Given the description of an element on the screen output the (x, y) to click on. 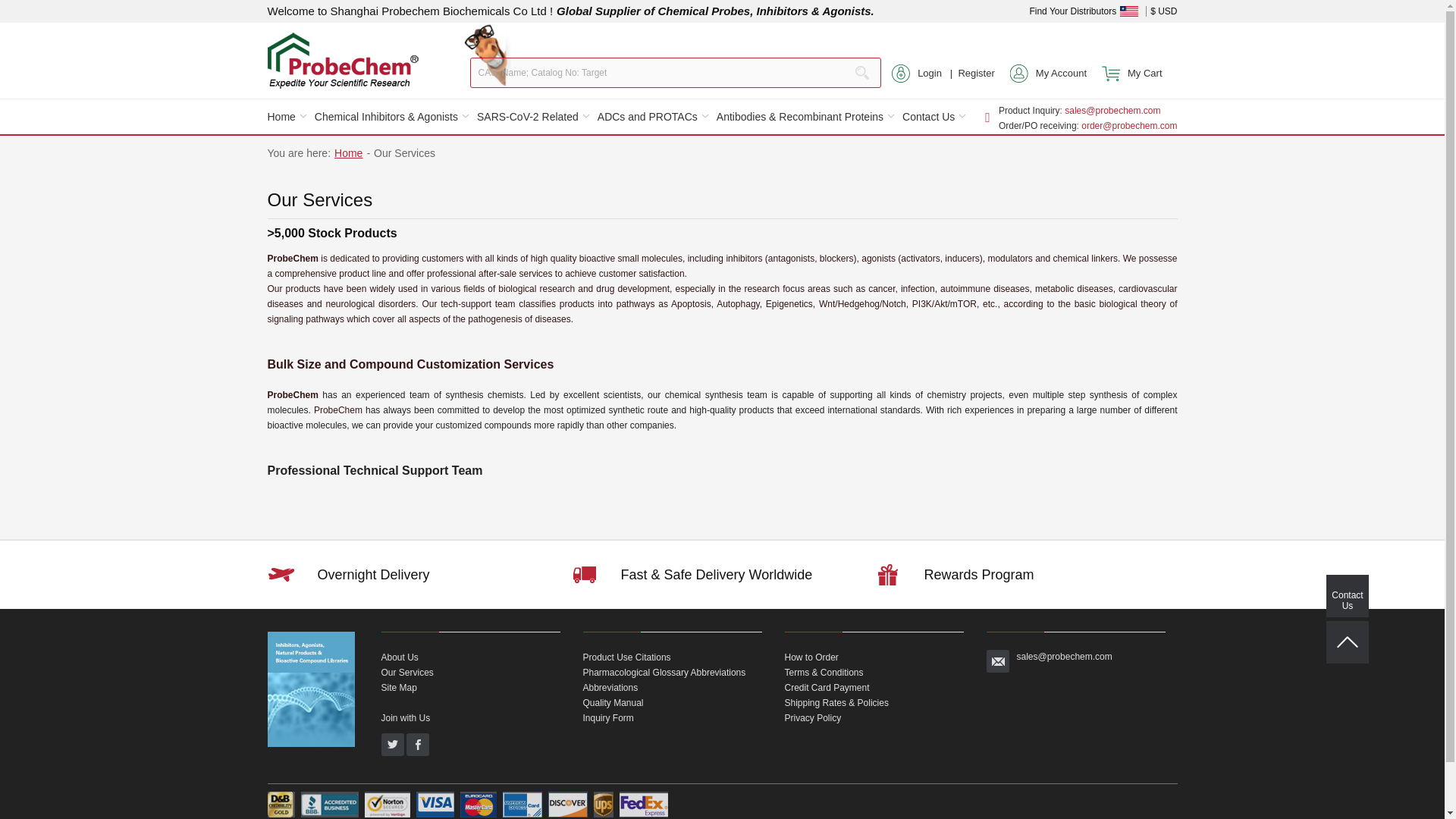
My Cart (1131, 73)
My Account (1048, 73)
Register (976, 73)
